Given the description of an element on the screen output the (x, y) to click on. 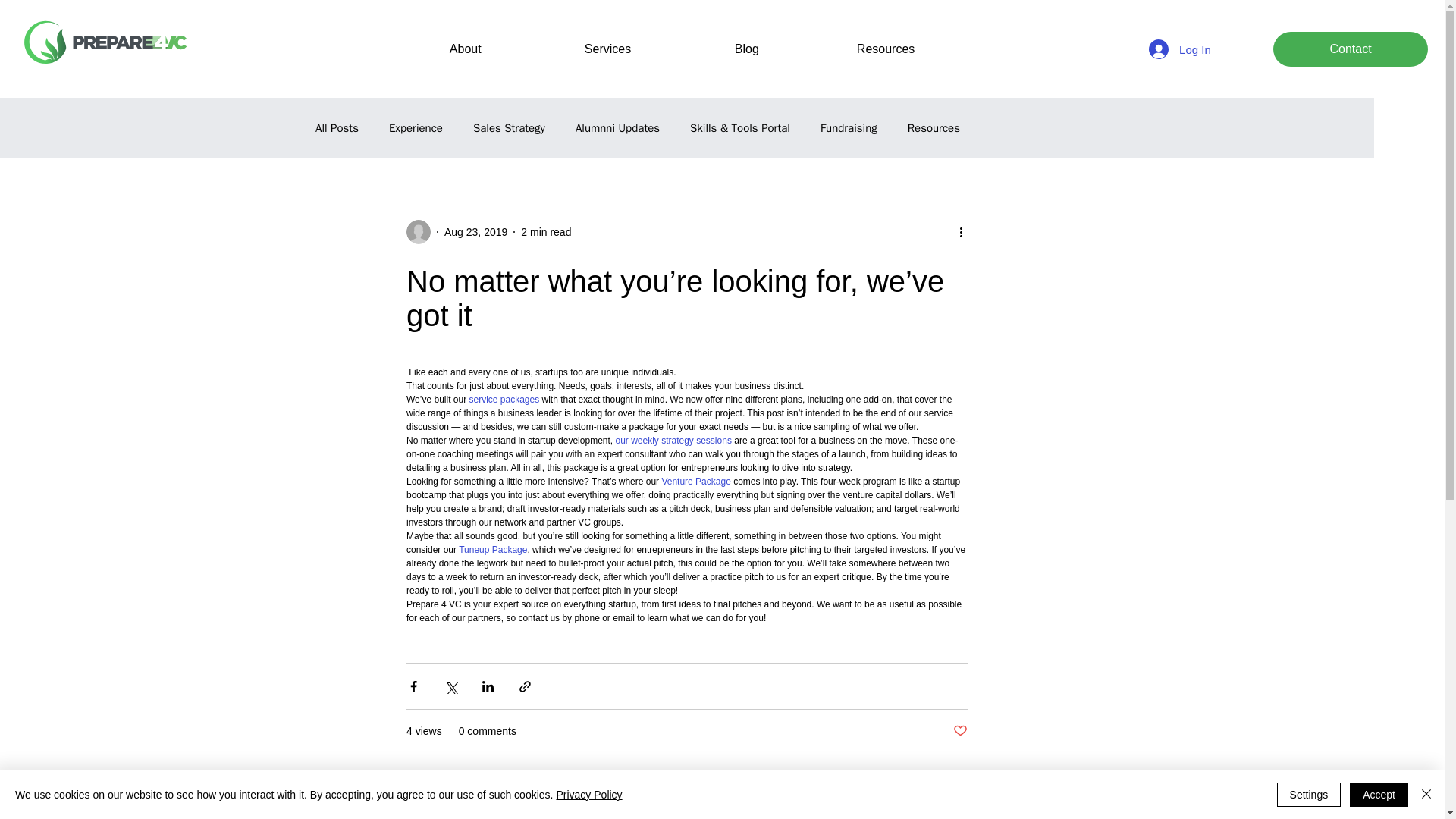
All Posts (336, 128)
Tuneup Package (492, 549)
Contact (1350, 48)
Aug 23, 2019 (475, 232)
Fundraising (849, 128)
See All (1026, 811)
Resources (933, 128)
Log In (1179, 49)
2 min read (545, 232)
our weekly strategy sessions  (673, 439)
Sales Strategy (508, 128)
Resources (926, 48)
Venture Package (695, 480)
Experience (415, 128)
Post not marked as liked (960, 731)
